Given the description of an element on the screen output the (x, y) to click on. 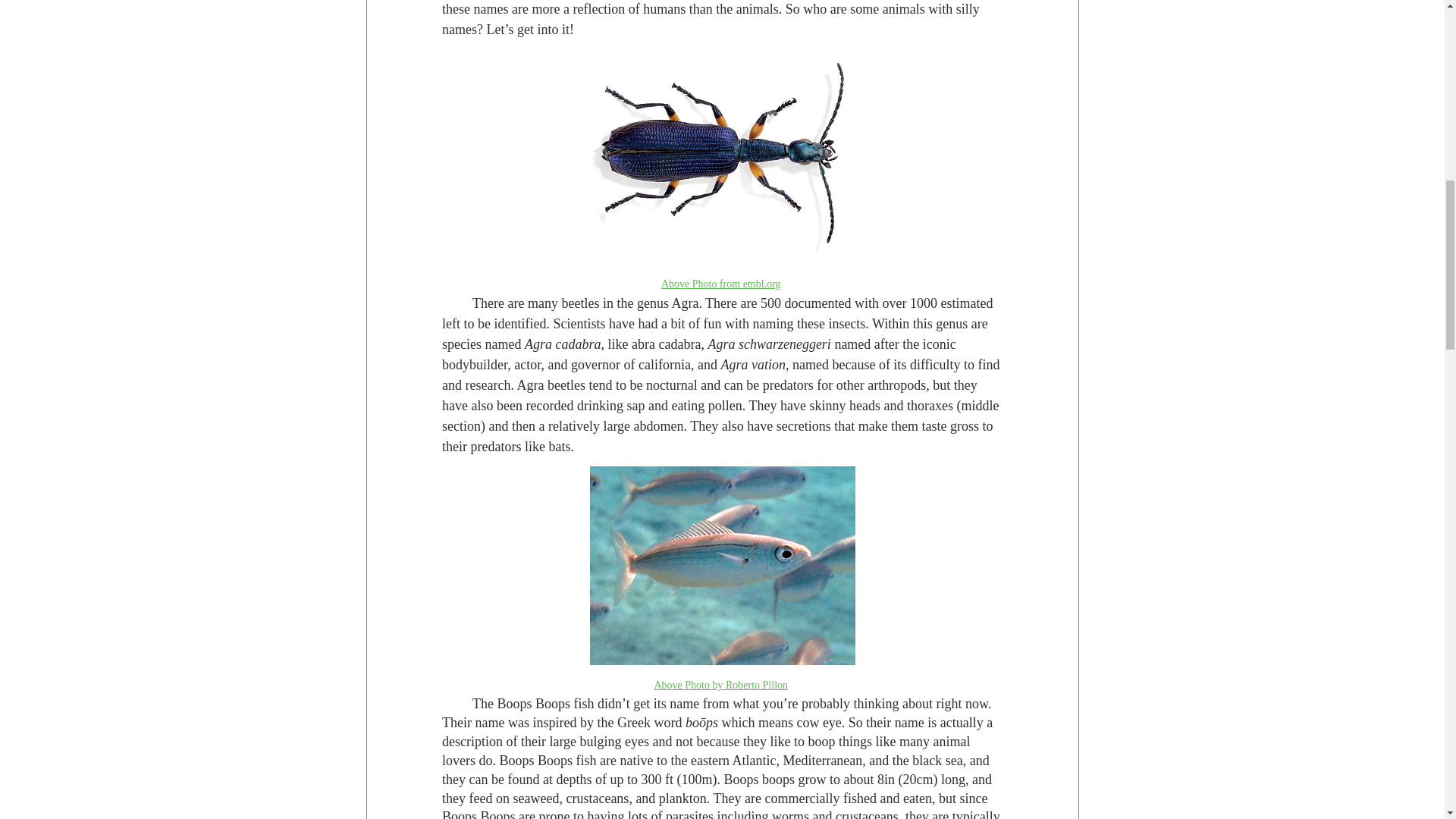
Above Photo from embl.org (720, 282)
Above Photo by Roberto Pillon (720, 684)
